Given the description of an element on the screen output the (x, y) to click on. 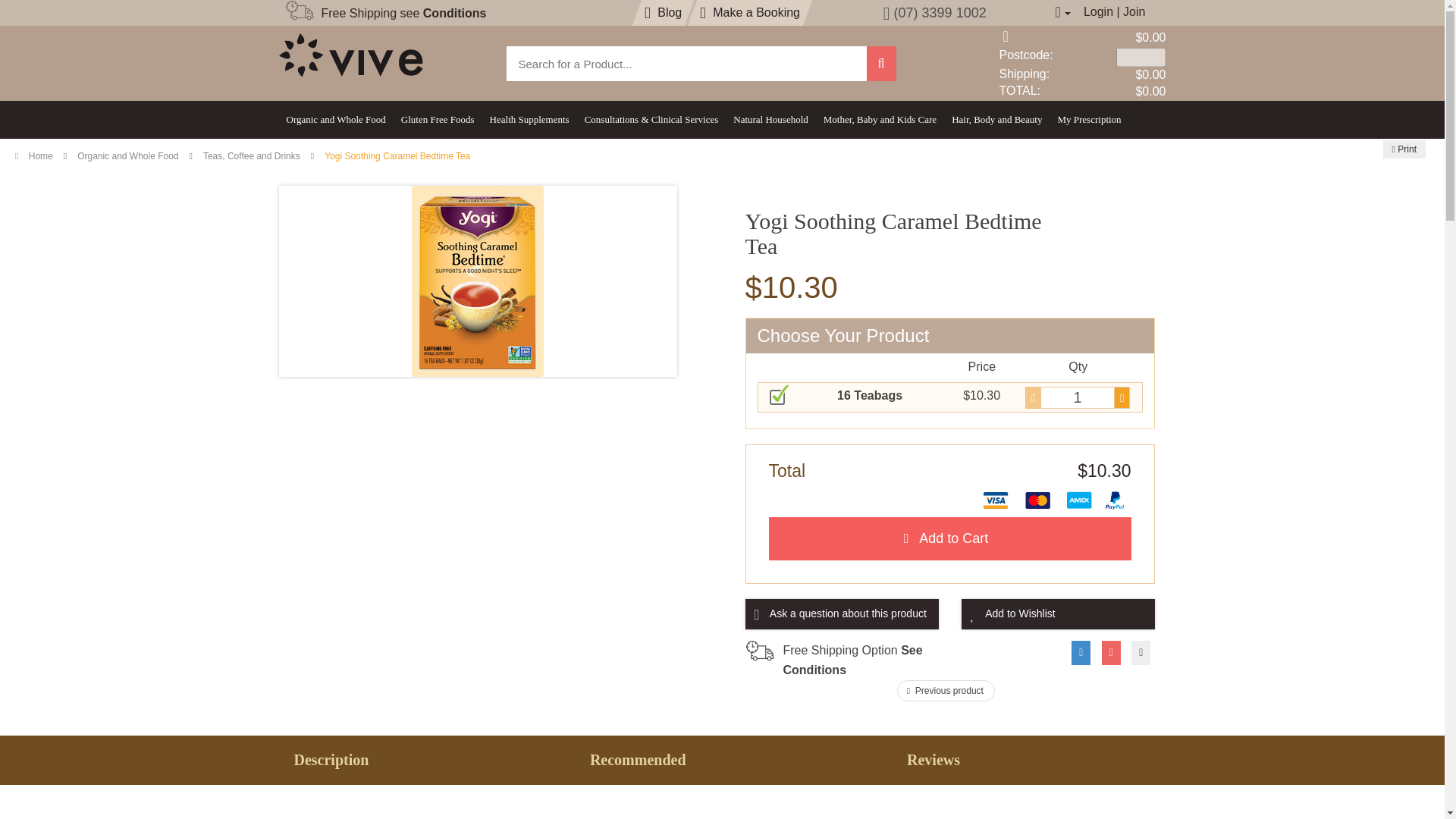
1 (1078, 397)
Home (33, 155)
Make a Booking (750, 12)
 Add to Cart (949, 538)
 Add to Wishlist (1057, 613)
 Ask a question about this product (840, 613)
Organic and Whole Food (336, 119)
Blog (662, 12)
Organic and Whole Food (127, 155)
Gluten Free Foods (437, 119)
